Given the description of an element on the screen output the (x, y) to click on. 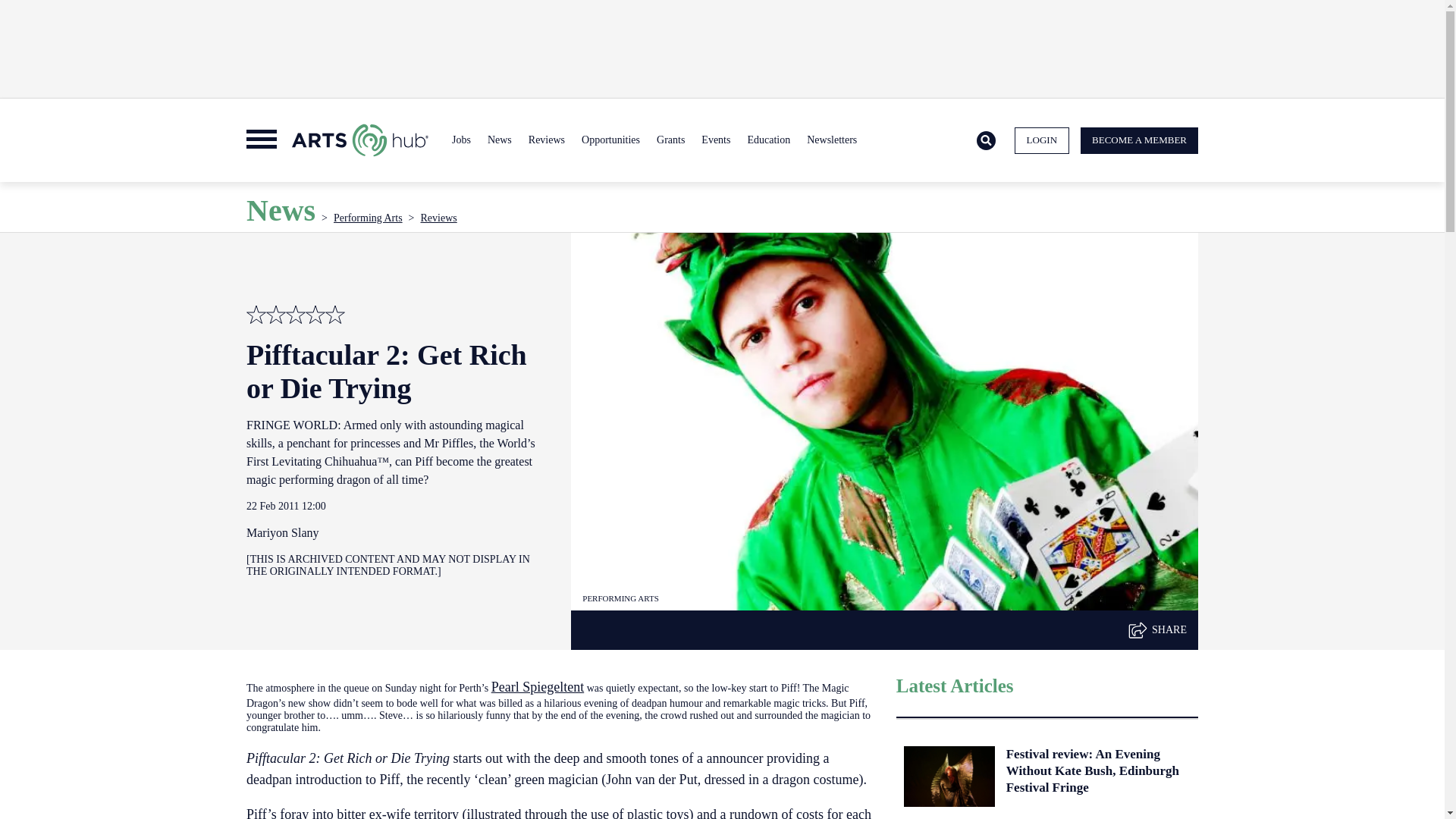
Search Icon (985, 140)
BECOME A MEMBER (1139, 140)
Newsletters (832, 139)
Reviews (546, 139)
Education (768, 139)
Jobs (461, 139)
Grants (670, 139)
Opportunities (610, 139)
News (498, 139)
Stars (314, 314)
